Given the description of an element on the screen output the (x, y) to click on. 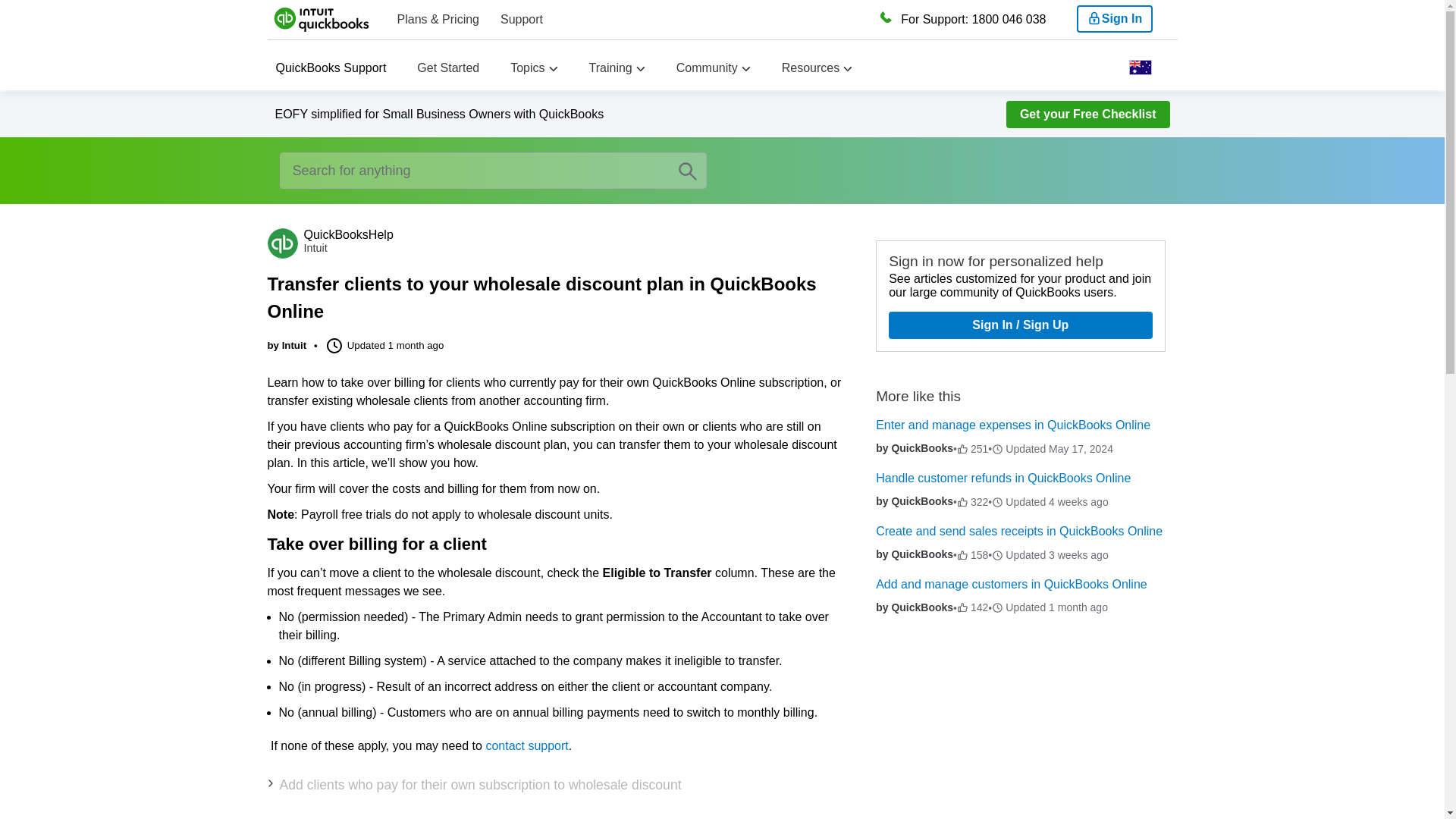
Topics (527, 67)
Support (521, 19)
btn-flag-nav (1139, 70)
QuickBooks Support (331, 67)
Get Started (447, 67)
Sign In (1115, 17)
main-flag (1139, 67)
